Given the description of an element on the screen output the (x, y) to click on. 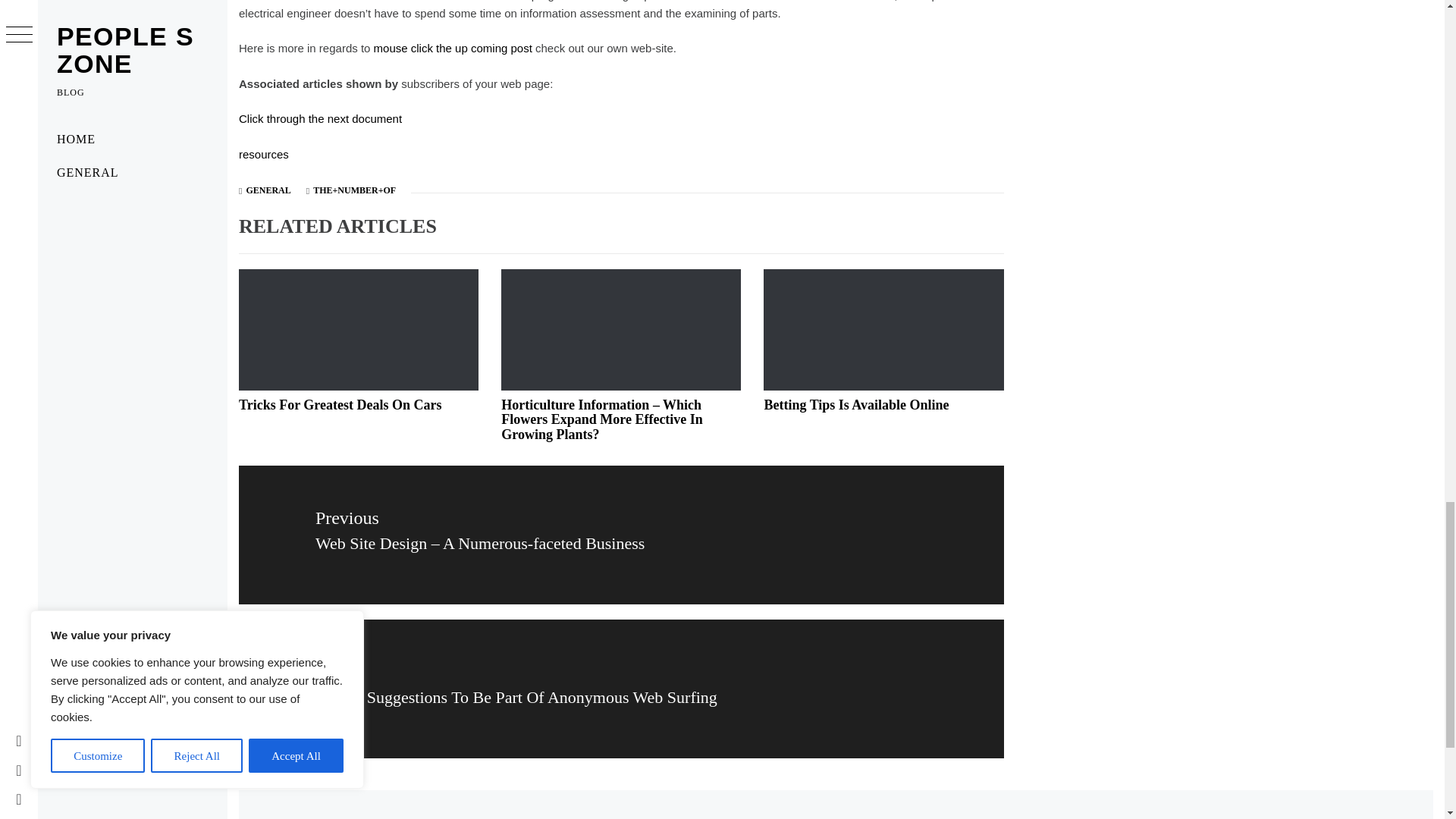
resources (263, 154)
Tricks For Greatest Deals On Cars (339, 404)
mouse click the up coming post (453, 47)
Click through the next document (319, 118)
GENERAL (267, 190)
